Given the description of an element on the screen output the (x, y) to click on. 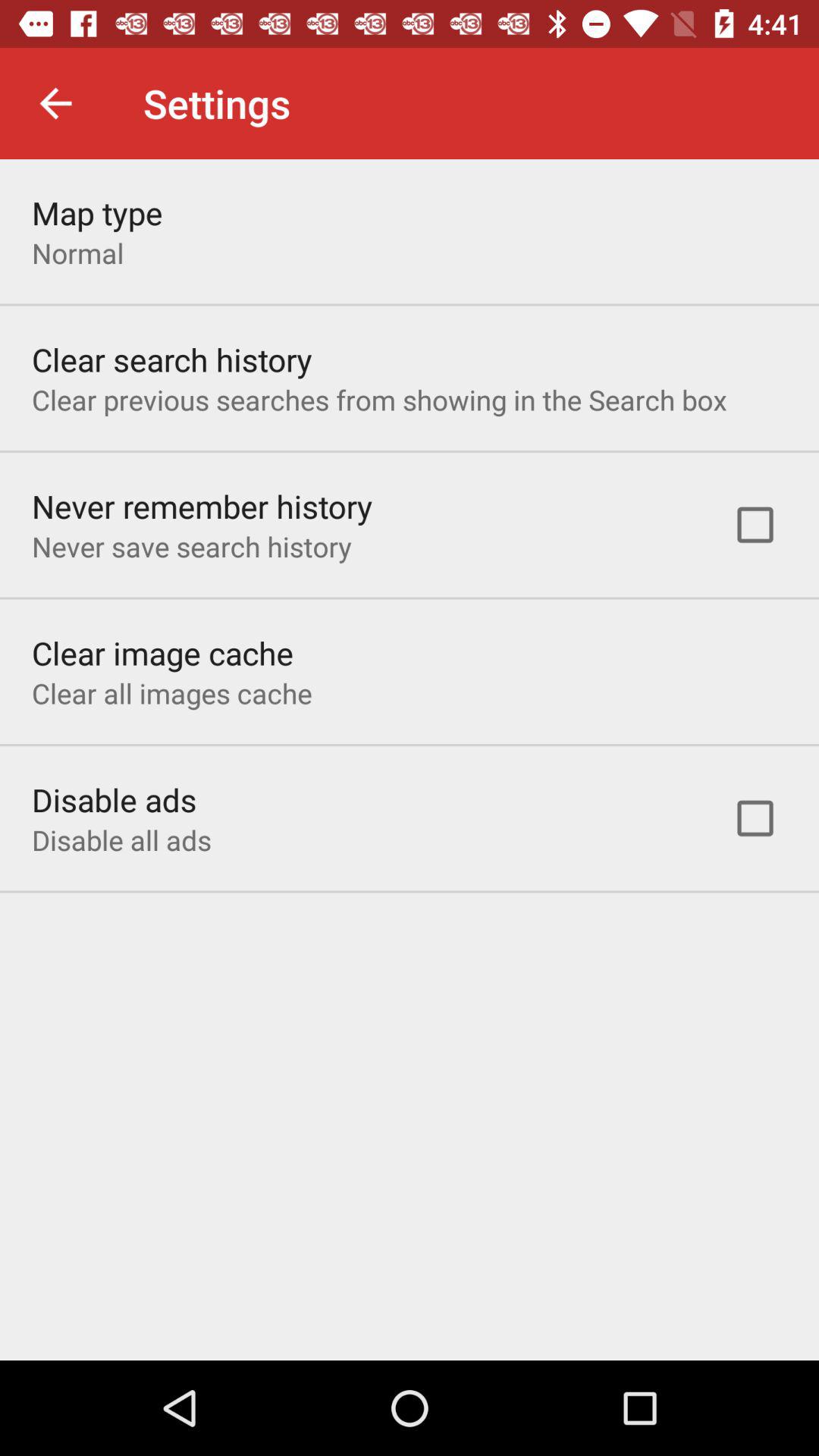
choose icon below clear image cache (171, 693)
